Given the description of an element on the screen output the (x, y) to click on. 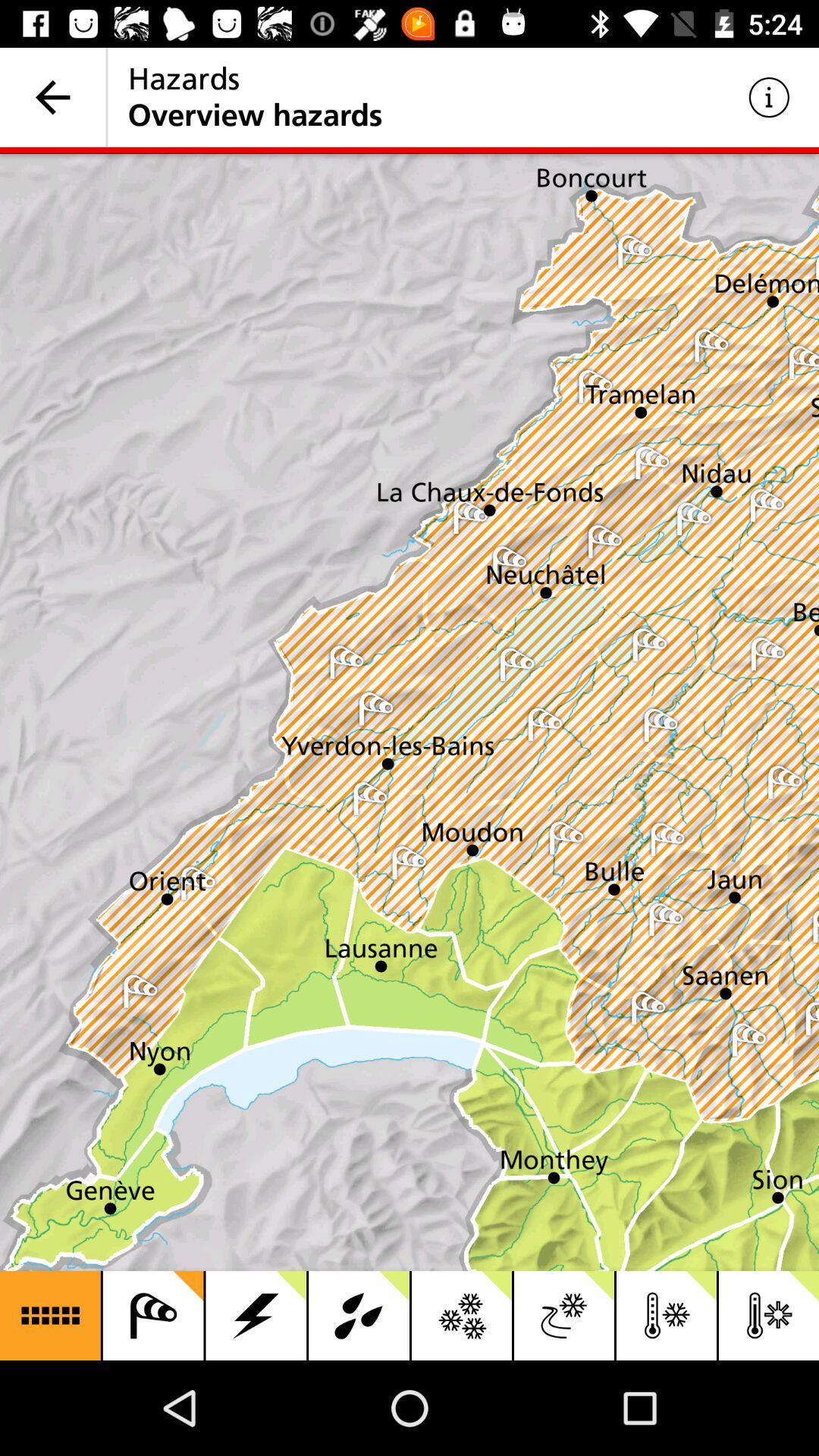
select the item at the top right corner (769, 97)
